Given the description of an element on the screen output the (x, y) to click on. 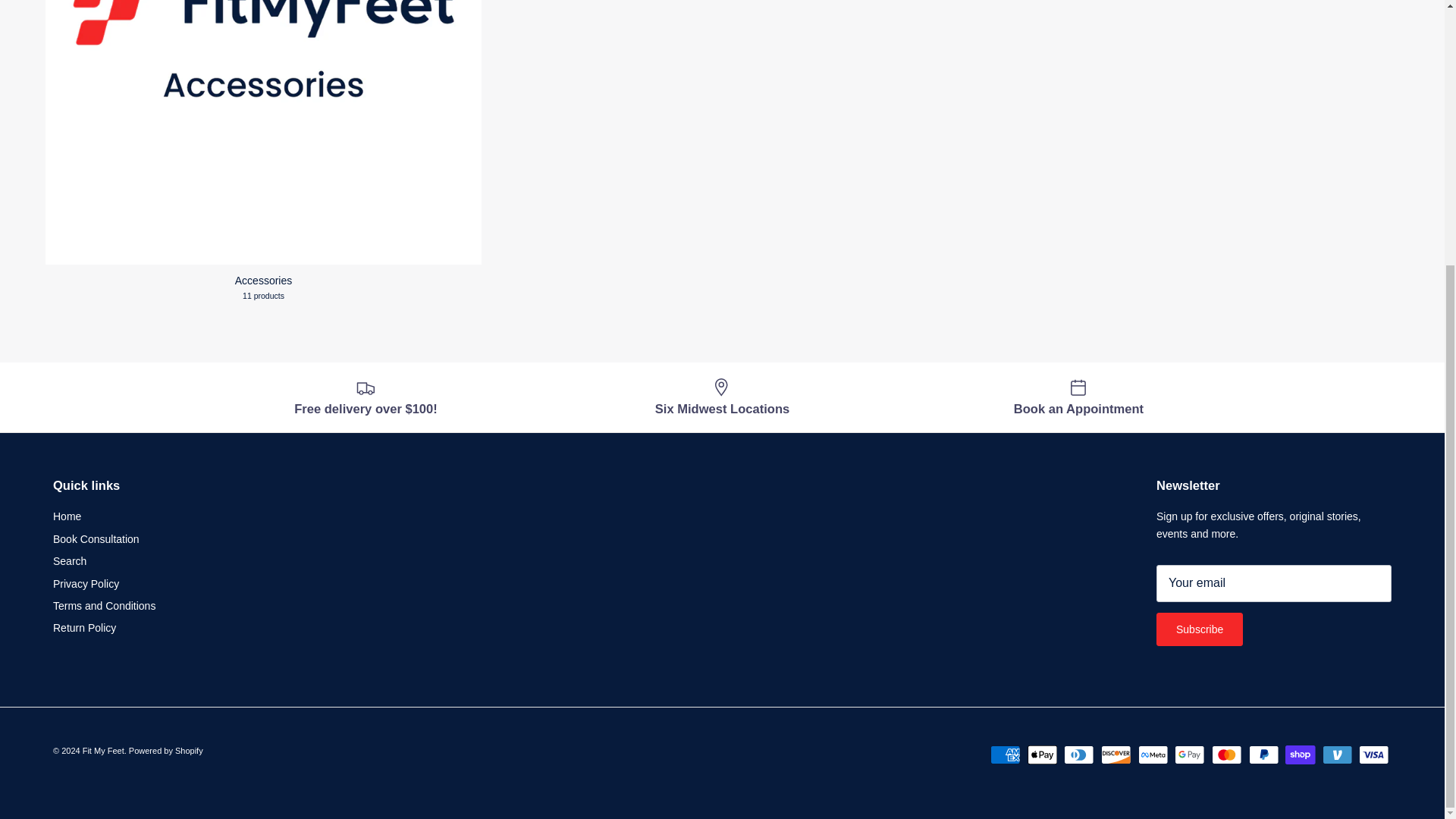
Shop Pay (1299, 754)
American Express (1005, 754)
PayPal (1262, 754)
Apple Pay (1042, 754)
Visa (1373, 754)
Venmo (1337, 754)
Discover (1115, 754)
Diners Club (1078, 754)
Mastercard (1226, 754)
Meta Pay (1152, 754)
